Given the description of an element on the screen output the (x, y) to click on. 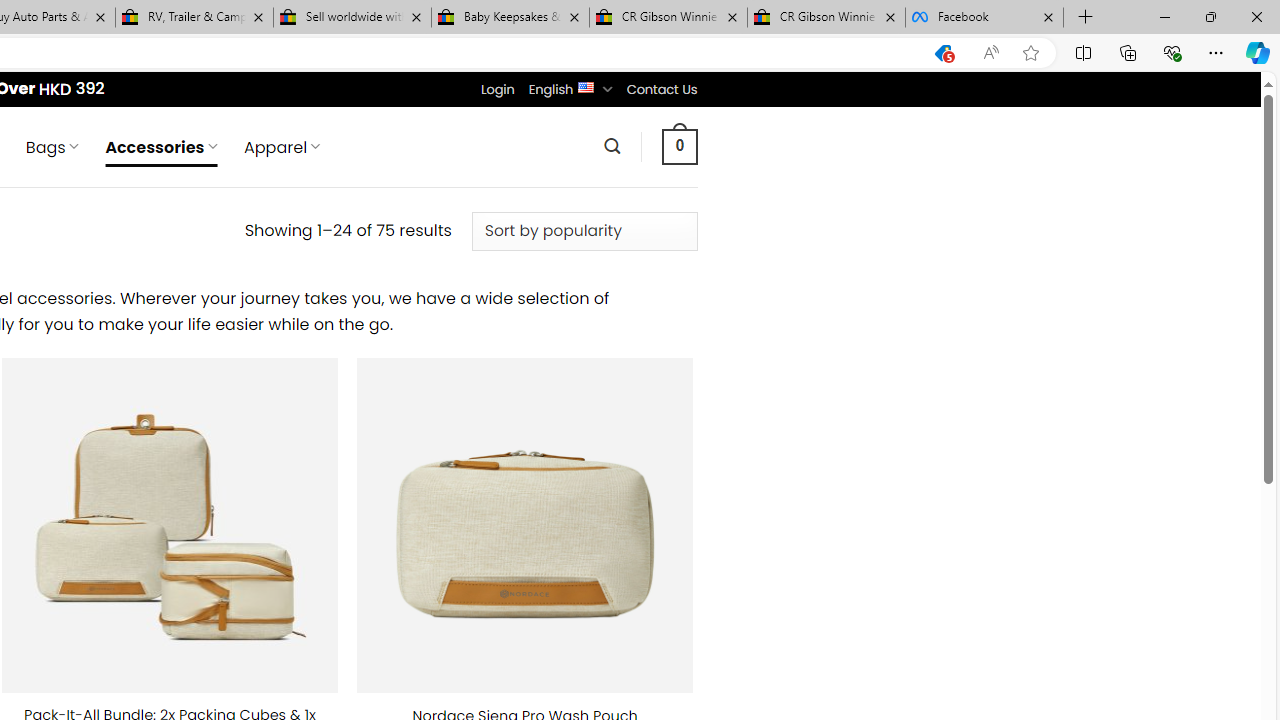
RV, Trailer & Camper Steps & Ladders for sale | eBay (194, 17)
Read aloud this page (Ctrl+Shift+U) (991, 53)
This site has coupons! Shopping in Microsoft Edge, 5 (943, 53)
New Tab (1085, 17)
Add this page to favorites (Ctrl+D) (1030, 53)
Minimize (1164, 16)
